Given the description of an element on the screen output the (x, y) to click on. 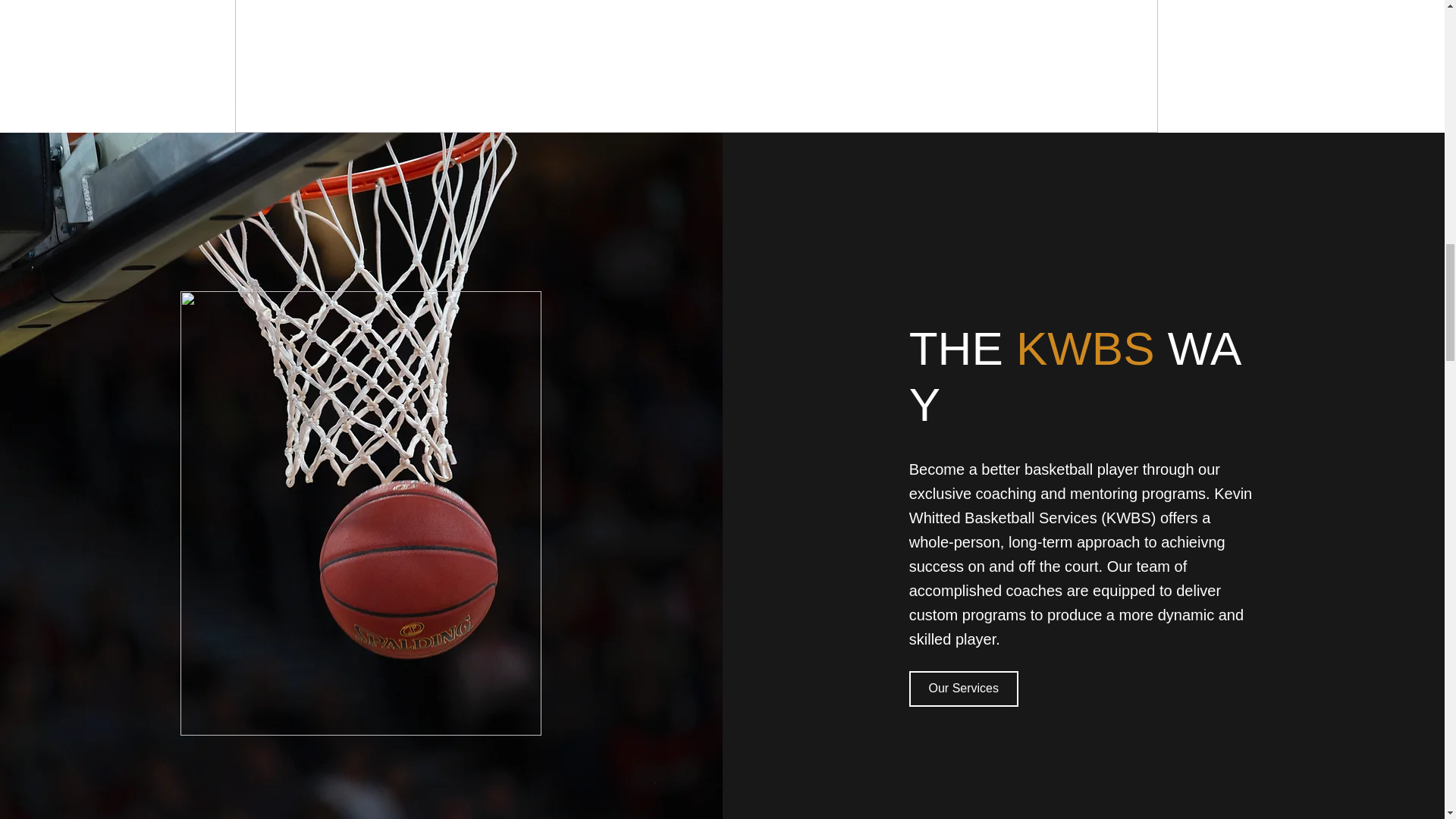
Our Services (962, 687)
